Given the description of an element on the screen output the (x, y) to click on. 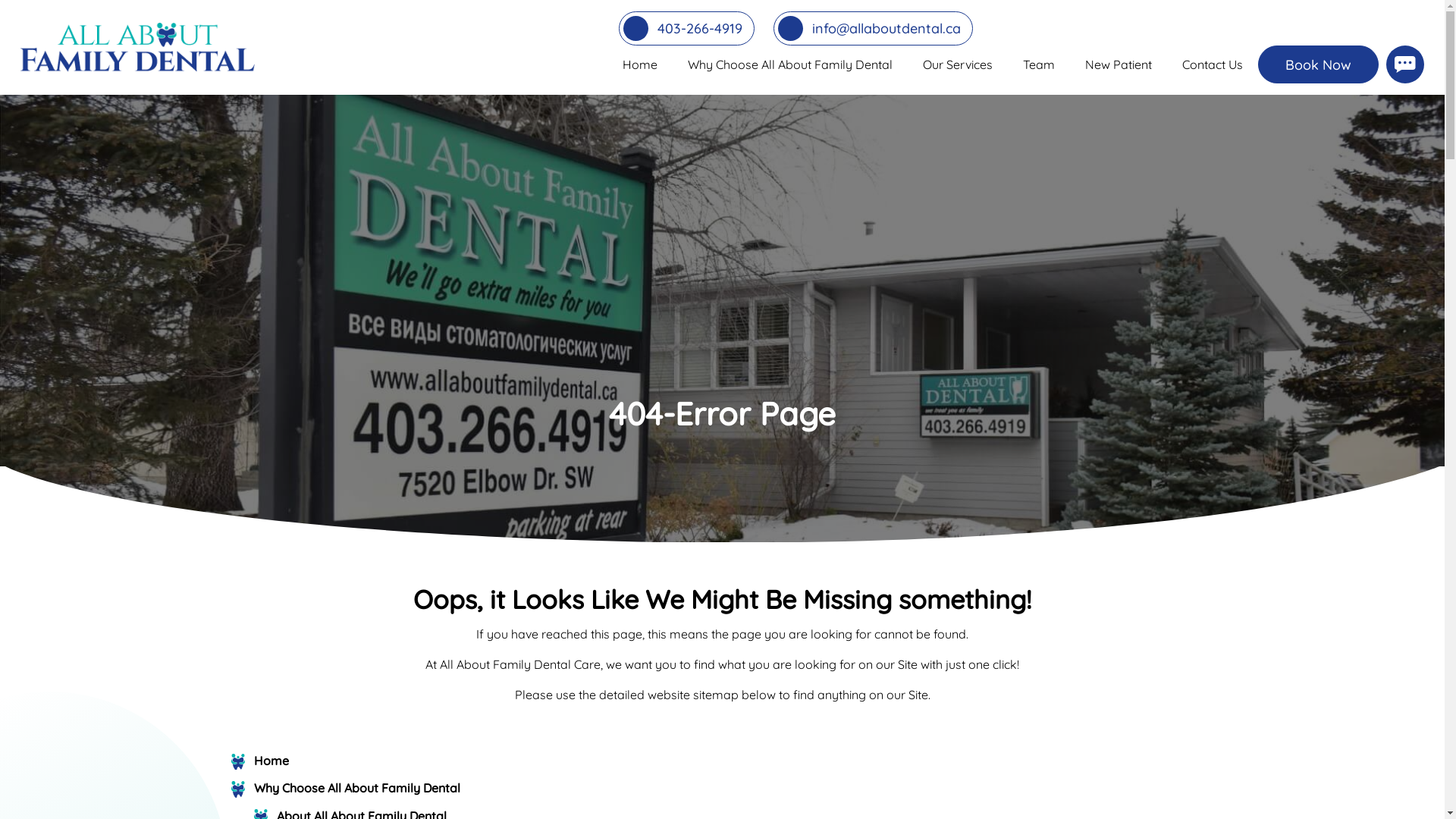
Book Now Element type: text (1318, 64)
Home Element type: text (639, 64)
Team Element type: text (1038, 64)
Contact Us Element type: text (1212, 64)
Why Choose All About Family Dental Element type: text (356, 787)
403-266-4919 Element type: text (686, 28)
Home Element type: text (270, 759)
Our Services Element type: text (957, 64)
info@allaboutdental.ca Element type: text (872, 28)
New Patient Element type: text (1118, 64)
Why Choose All About Family Dental Element type: text (789, 64)
